Given the description of an element on the screen output the (x, y) to click on. 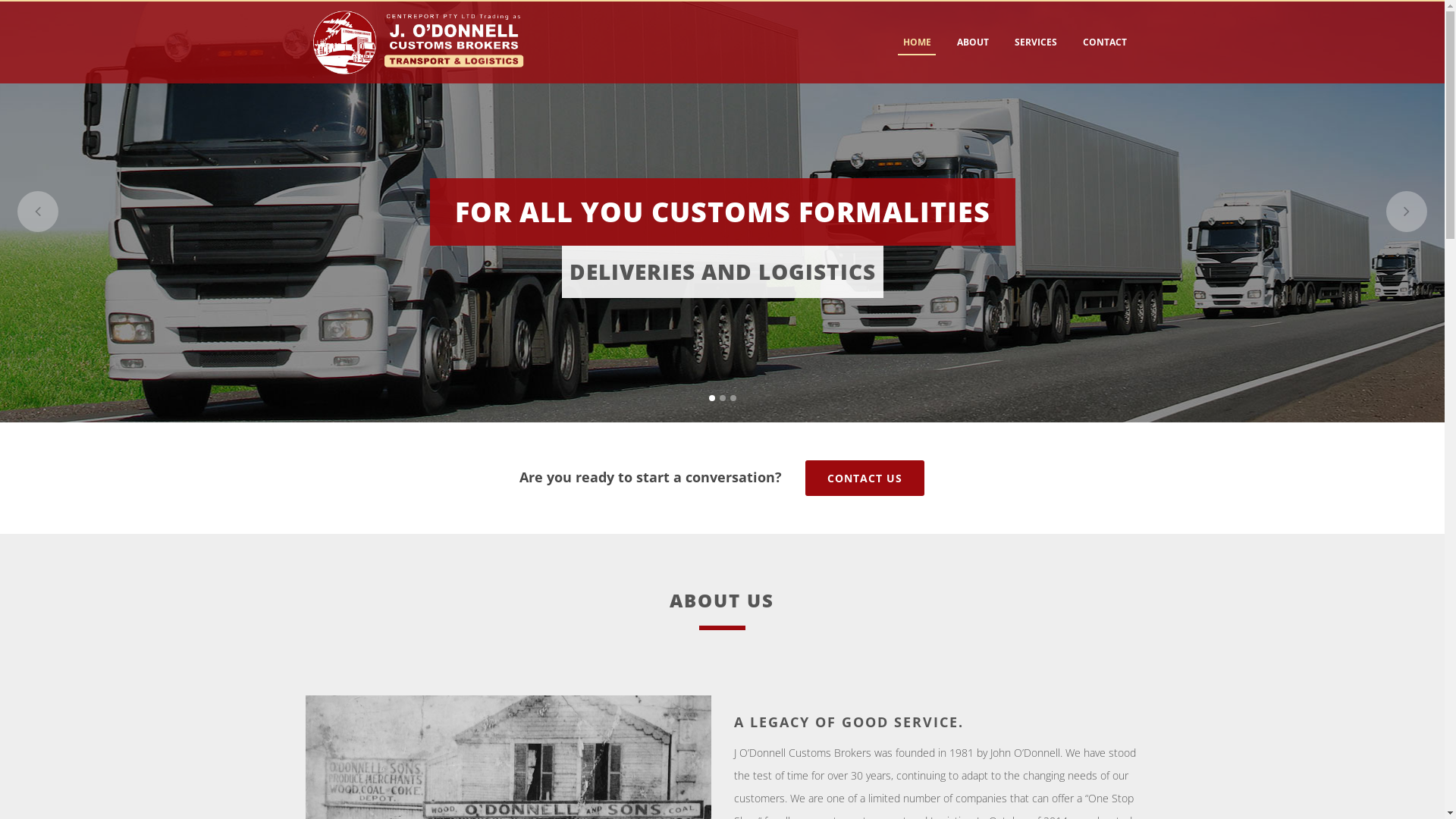
CONTACT US Element type: text (864, 477)
ABOUT Element type: text (972, 42)
CONTACT Element type: text (1104, 42)
SERVICES Element type: text (1035, 42)
HOME Element type: text (917, 42)
